Given the description of an element on the screen output the (x, y) to click on. 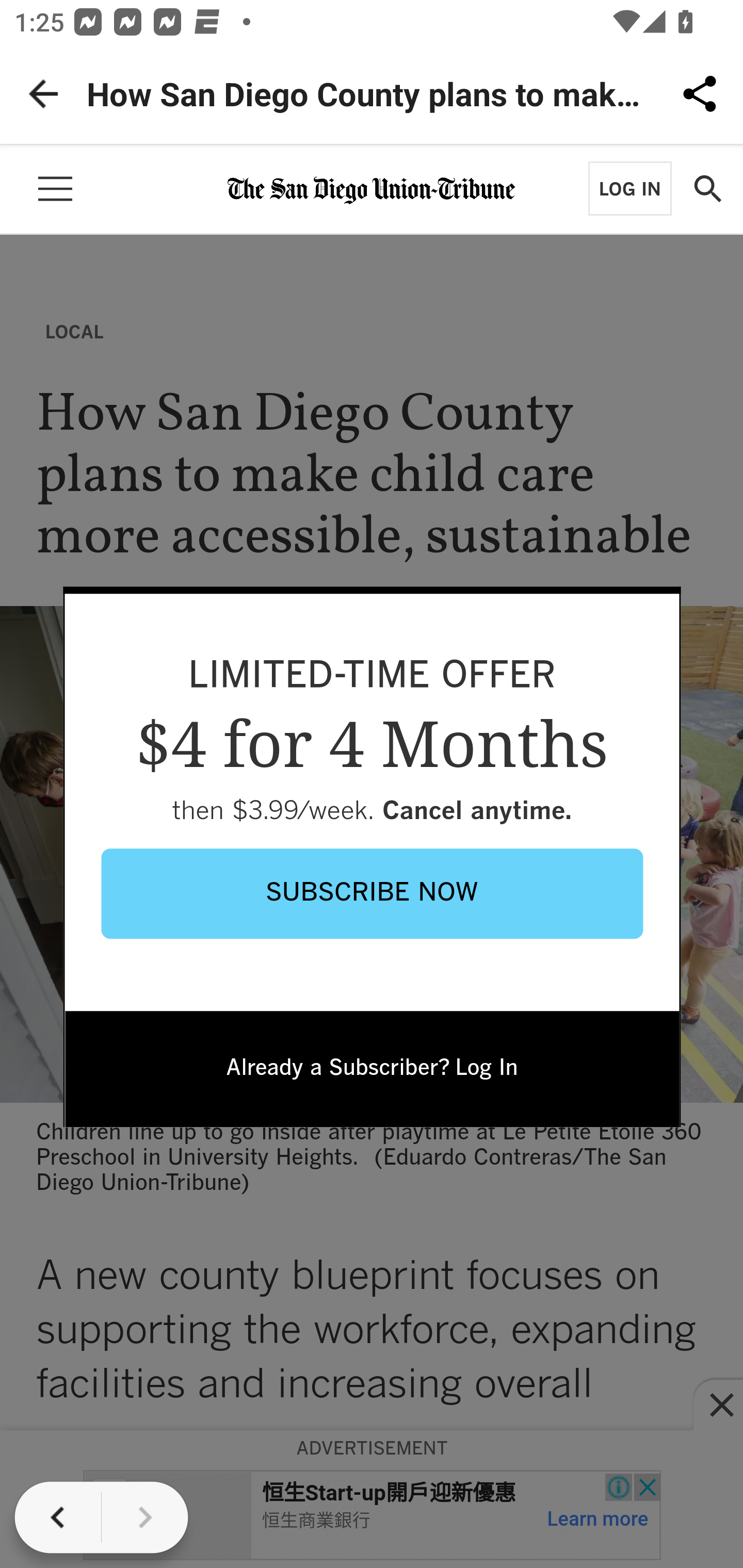
Sections (54, 188)
Show Search (707, 188)
Log In LOG IN (629, 187)
home page (371, 187)
SUBSCRIBE NOW (372, 893)
